Given the description of an element on the screen output the (x, y) to click on. 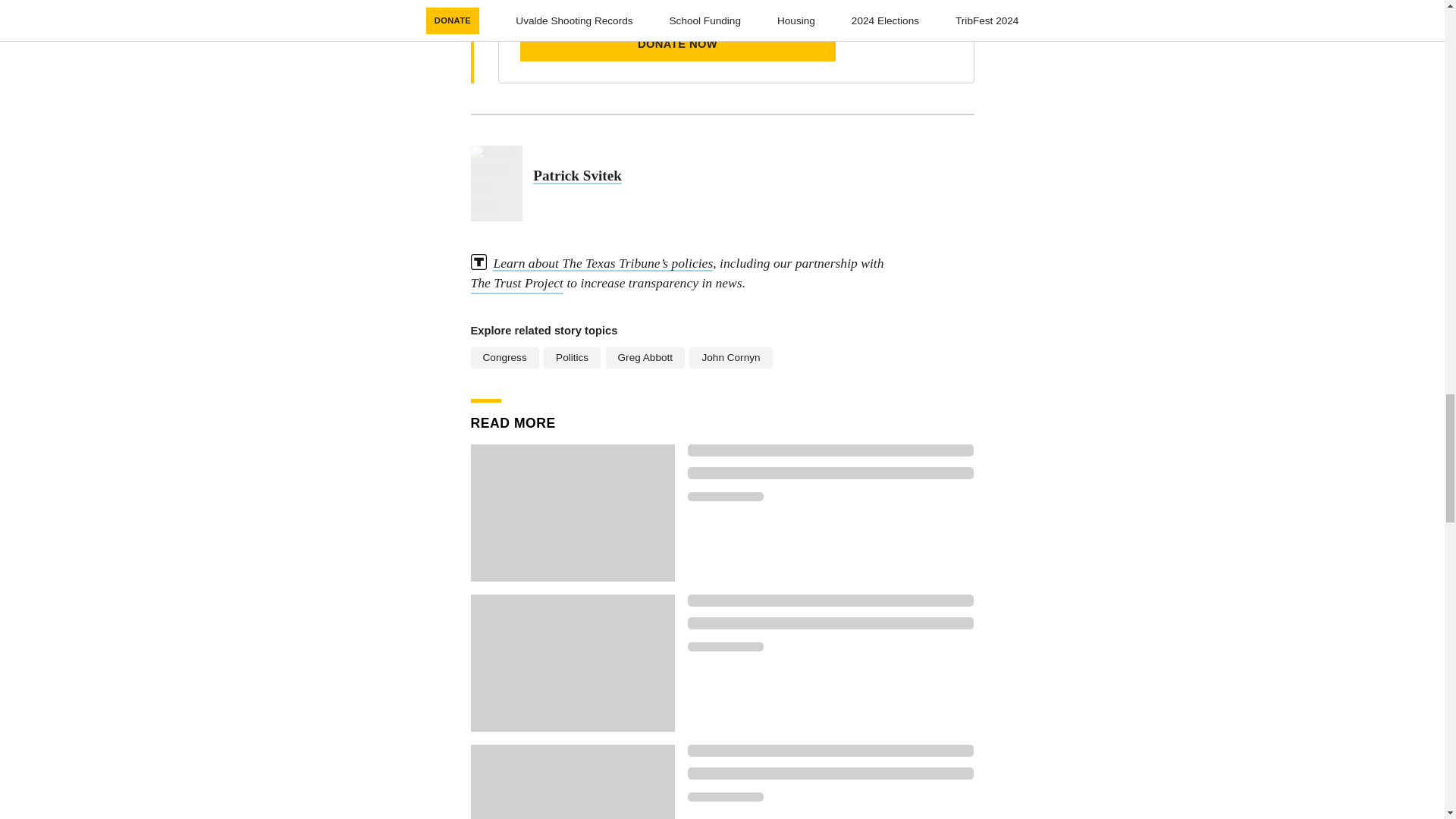
Loading indicator (830, 600)
Loading indicator (830, 773)
Loading indicator (830, 450)
Loading indicator (724, 796)
Loading indicator (724, 646)
Loading indicator (830, 750)
Loading indicator (830, 472)
Loading indicator (724, 496)
Loading indicator (830, 623)
